Given the description of an element on the screen output the (x, y) to click on. 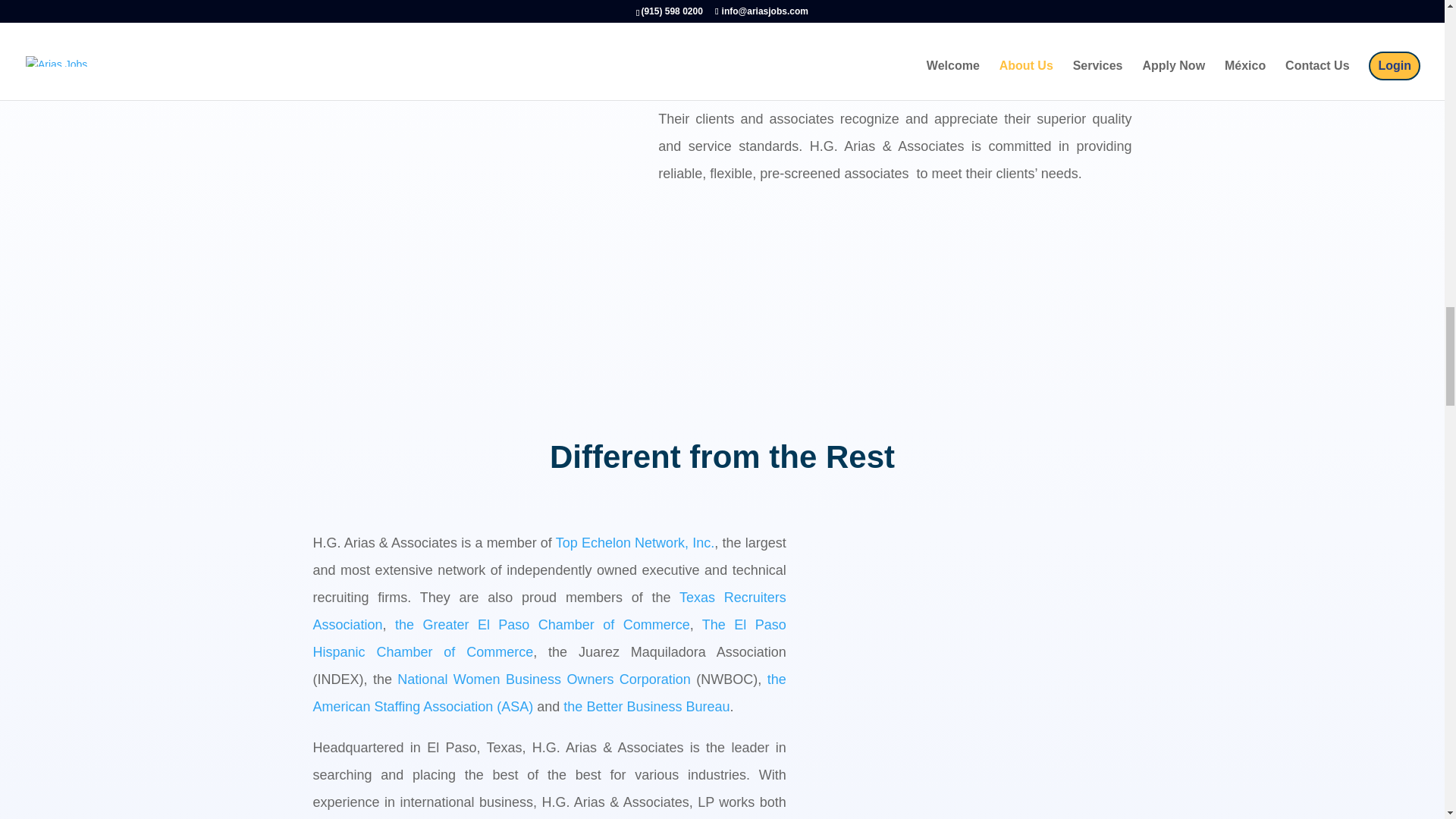
the Better Business Bureau (646, 706)
Top Echelon Network, Inc. (635, 542)
The El Paso Hispanic Chamber of Commerce (549, 638)
the Greater El Paso Chamber of Commerce (542, 624)
Texas Recruiters Association (549, 610)
National Women Business Owners Corporation (543, 679)
